Given the description of an element on the screen output the (x, y) to click on. 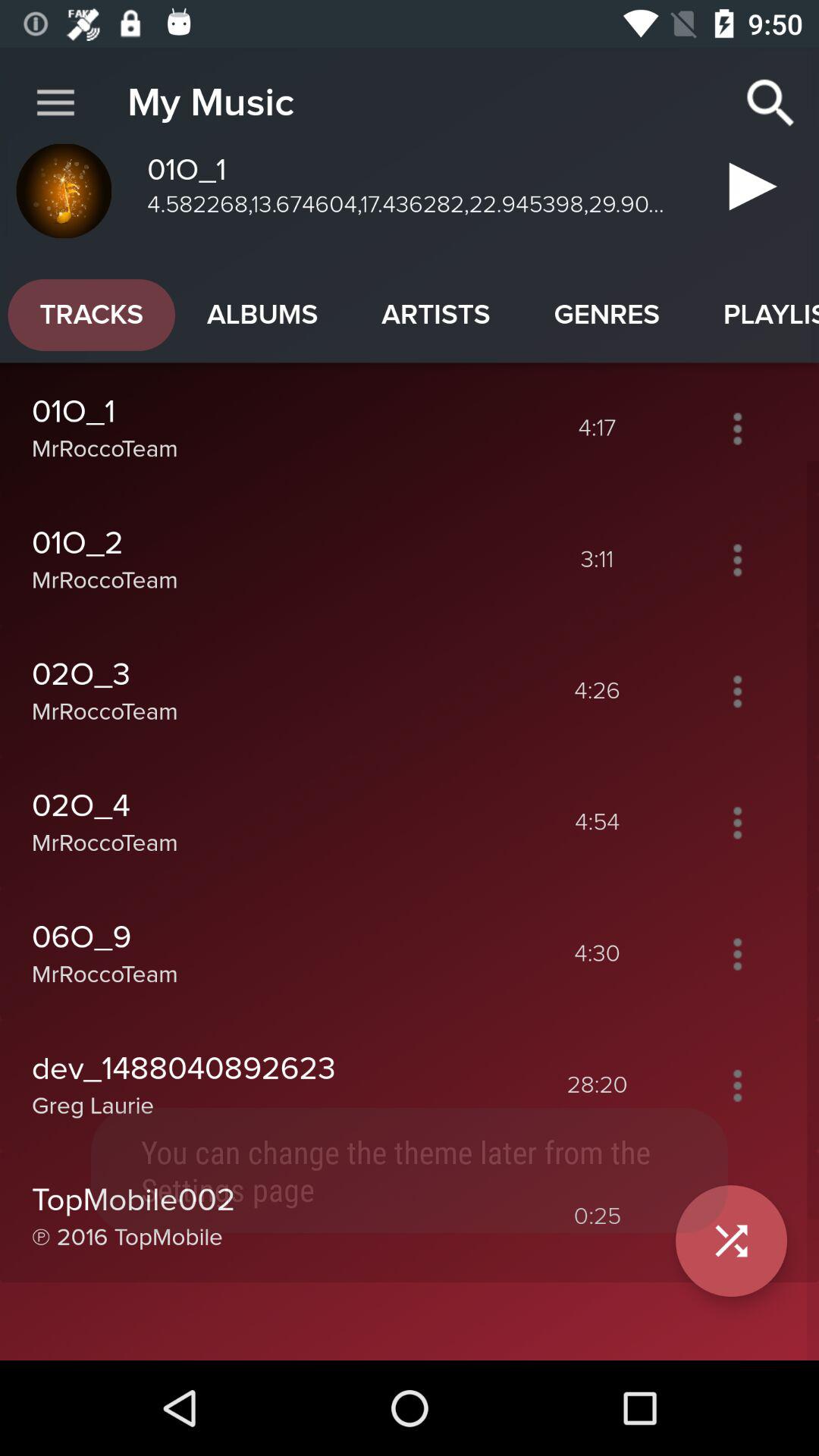
abra as opes (737, 559)
